Given the description of an element on the screen output the (x, y) to click on. 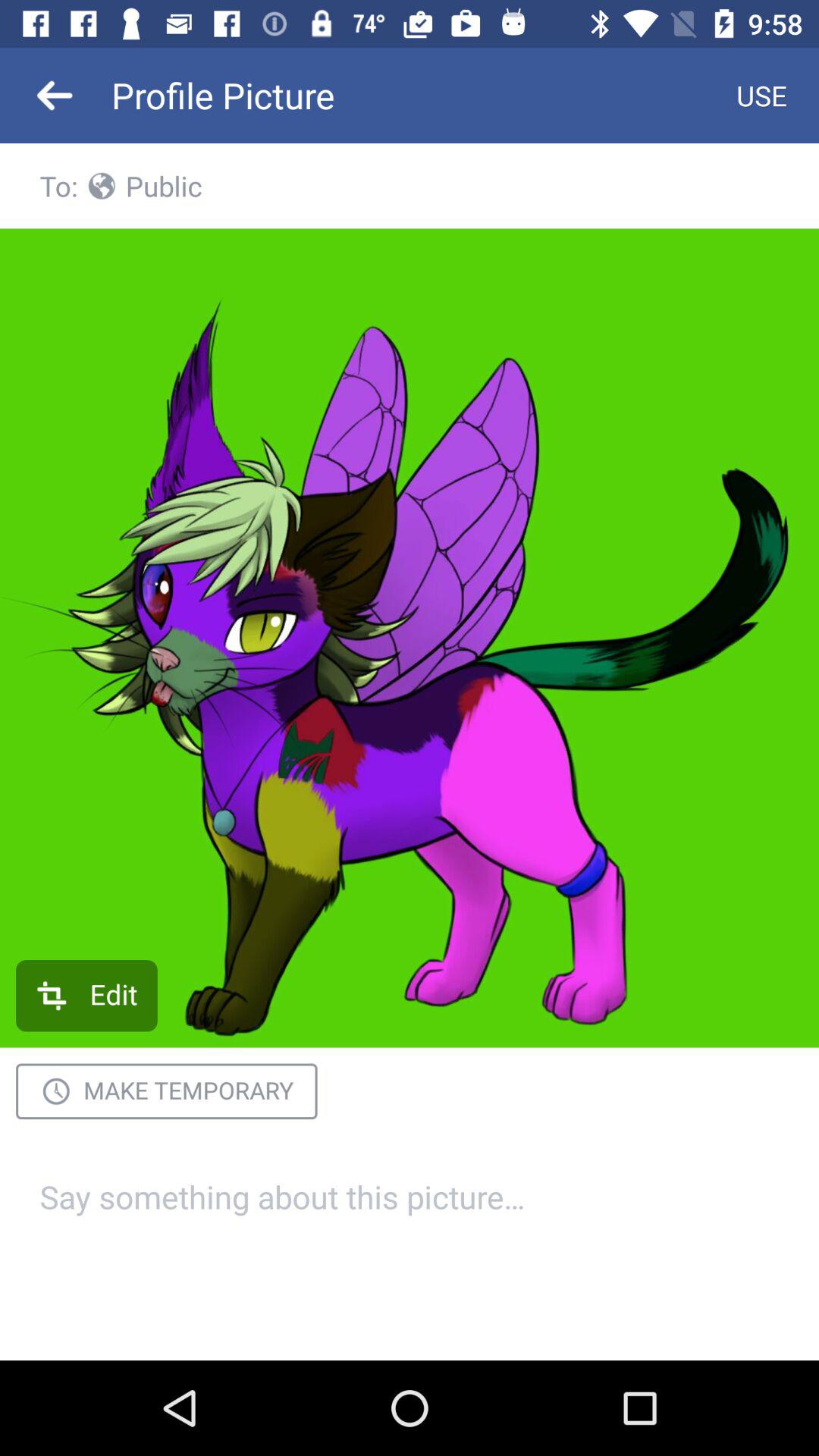
click the make temporary item (166, 1091)
